Given the description of an element on the screen output the (x, y) to click on. 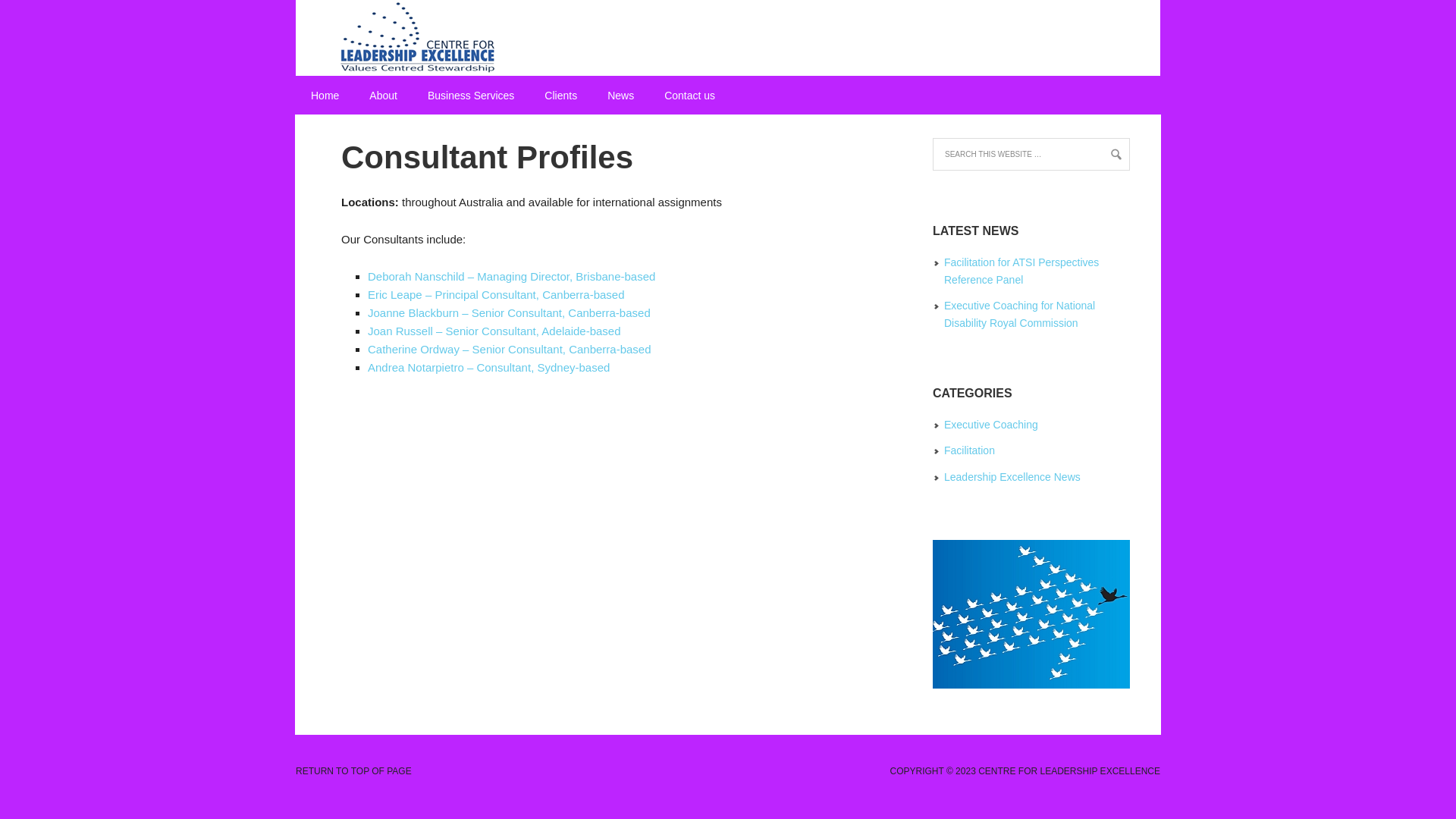
Leadership Excellence News Element type: text (1012, 476)
Executive Coaching Element type: text (991, 424)
Search Element type: text (31, 17)
Executive Coaching for National Disability Royal Commission Element type: text (1019, 313)
Home Element type: text (324, 95)
Clients Element type: text (560, 95)
News Element type: text (620, 95)
Contact us Element type: text (689, 95)
Leadership Excellence Element type: text (727, 37)
Facilitation Element type: text (969, 450)
RETURN TO TOP OF PAGE Element type: text (353, 770)
Facilitation for ATSI Perspectives Reference Panel Element type: text (1021, 270)
